Given the description of an element on the screen output the (x, y) to click on. 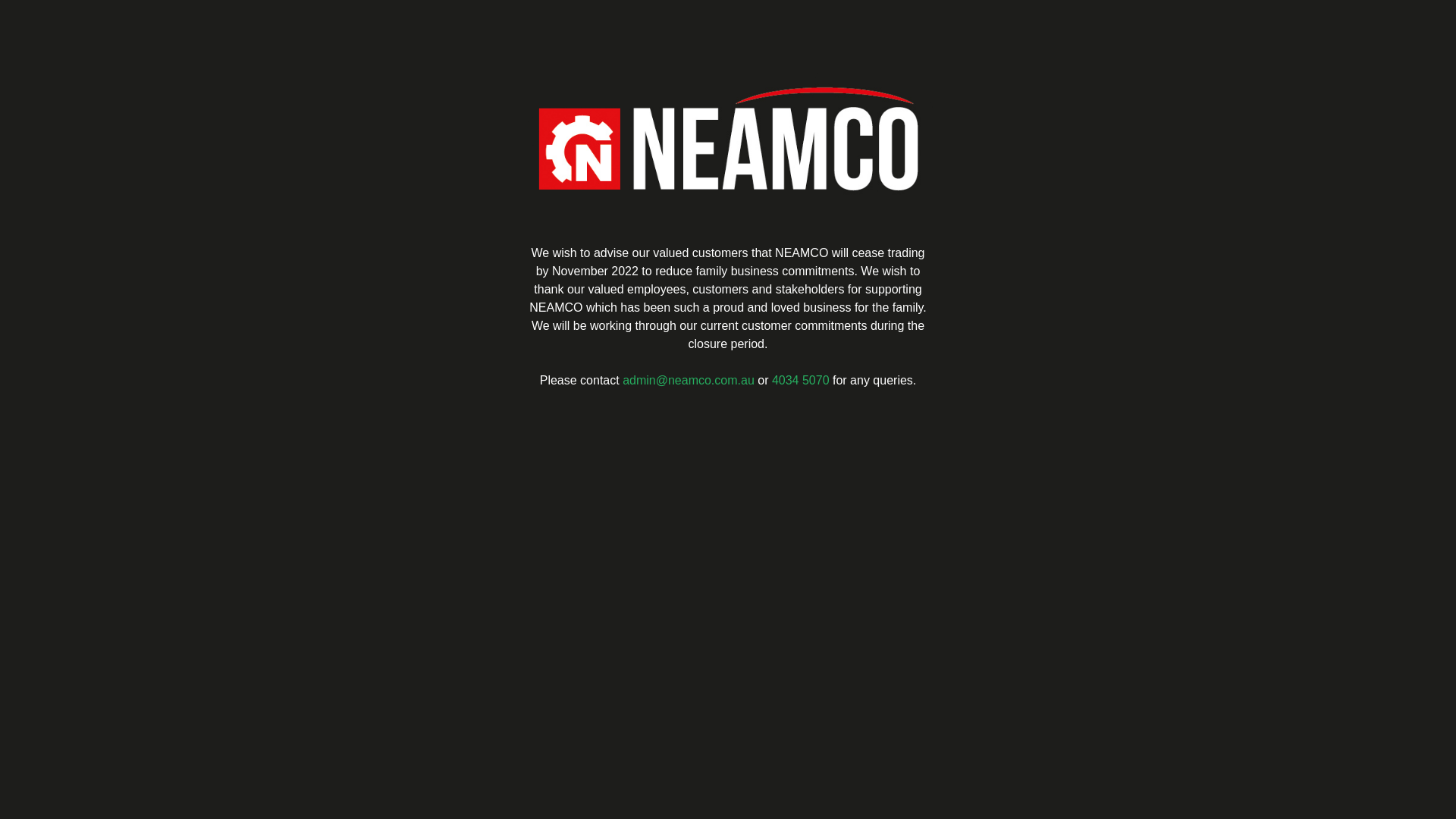
4034 5070 Element type: text (800, 379)
admin@neamco.com.au Element type: text (688, 379)
